Given the description of an element on the screen output the (x, y) to click on. 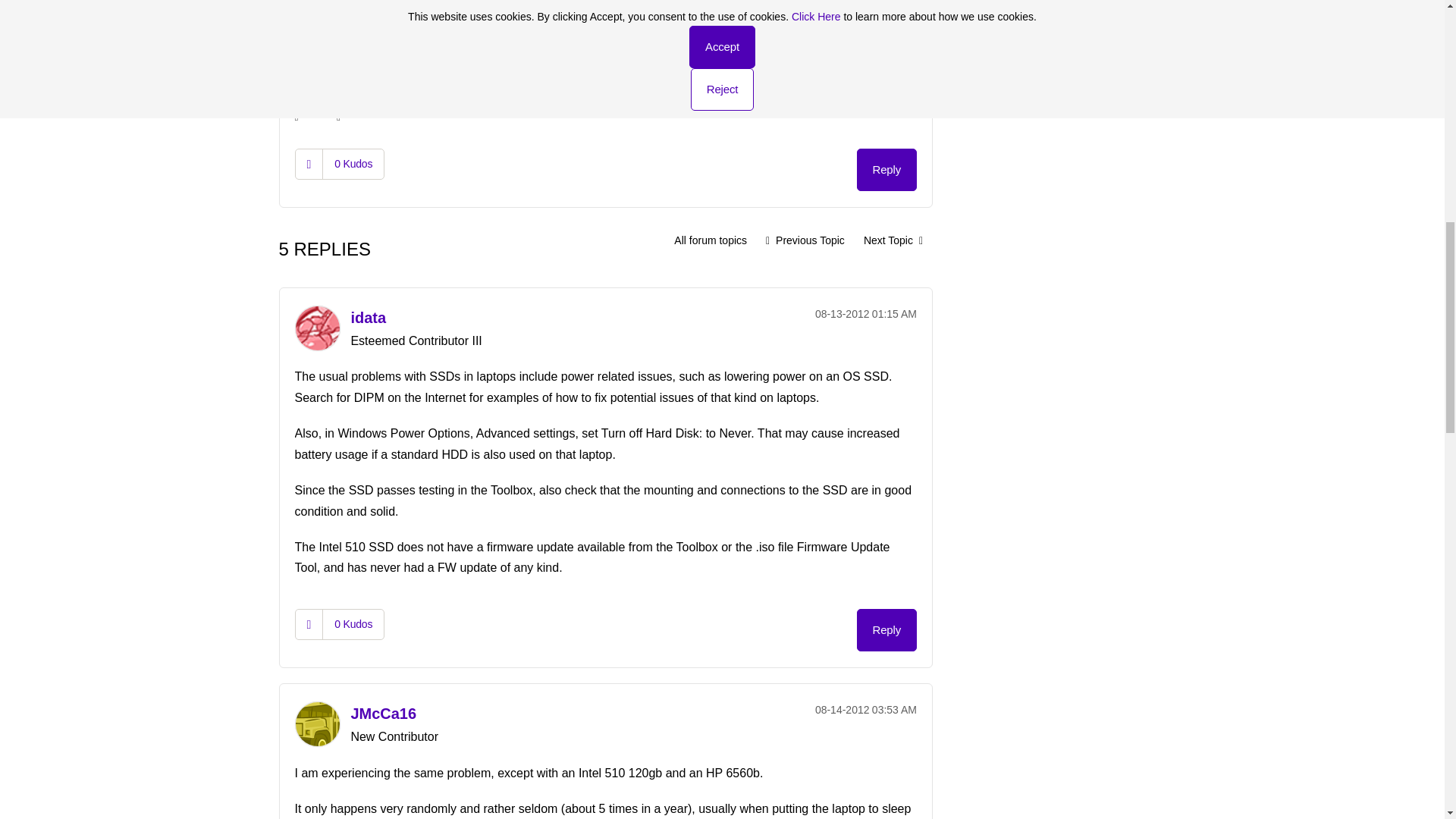
All forum topics (710, 240)
idata (367, 317)
Reply (887, 169)
Download attachment (339, 72)
Next Topic (893, 240)
Previous Topic (804, 240)
